Given the description of an element on the screen output the (x, y) to click on. 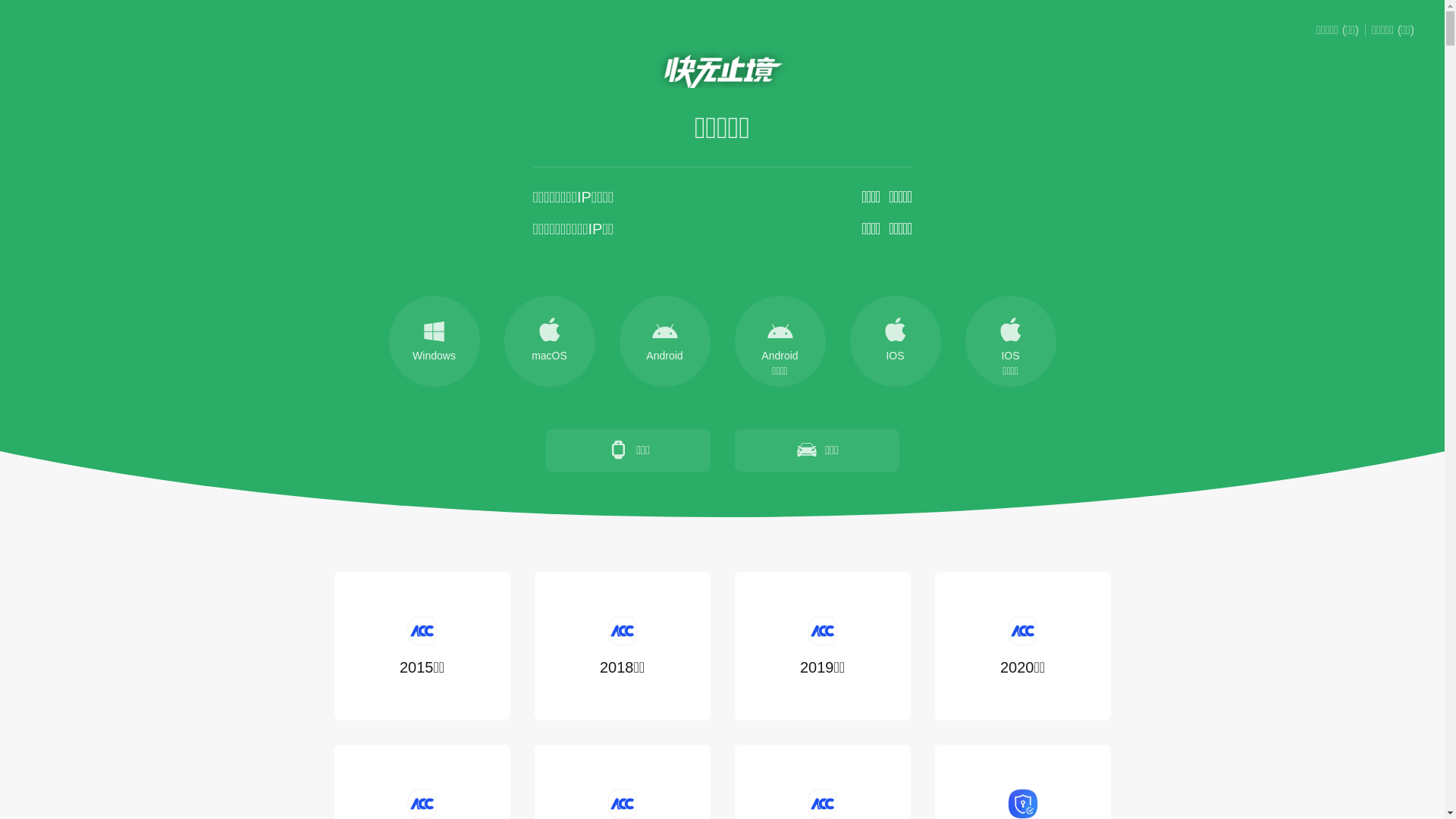
IOS Element type: text (894, 340)
Windows Element type: text (433, 340)
Android Element type: text (663, 340)
macOS Element type: text (548, 340)
